Given the description of an element on the screen output the (x, y) to click on. 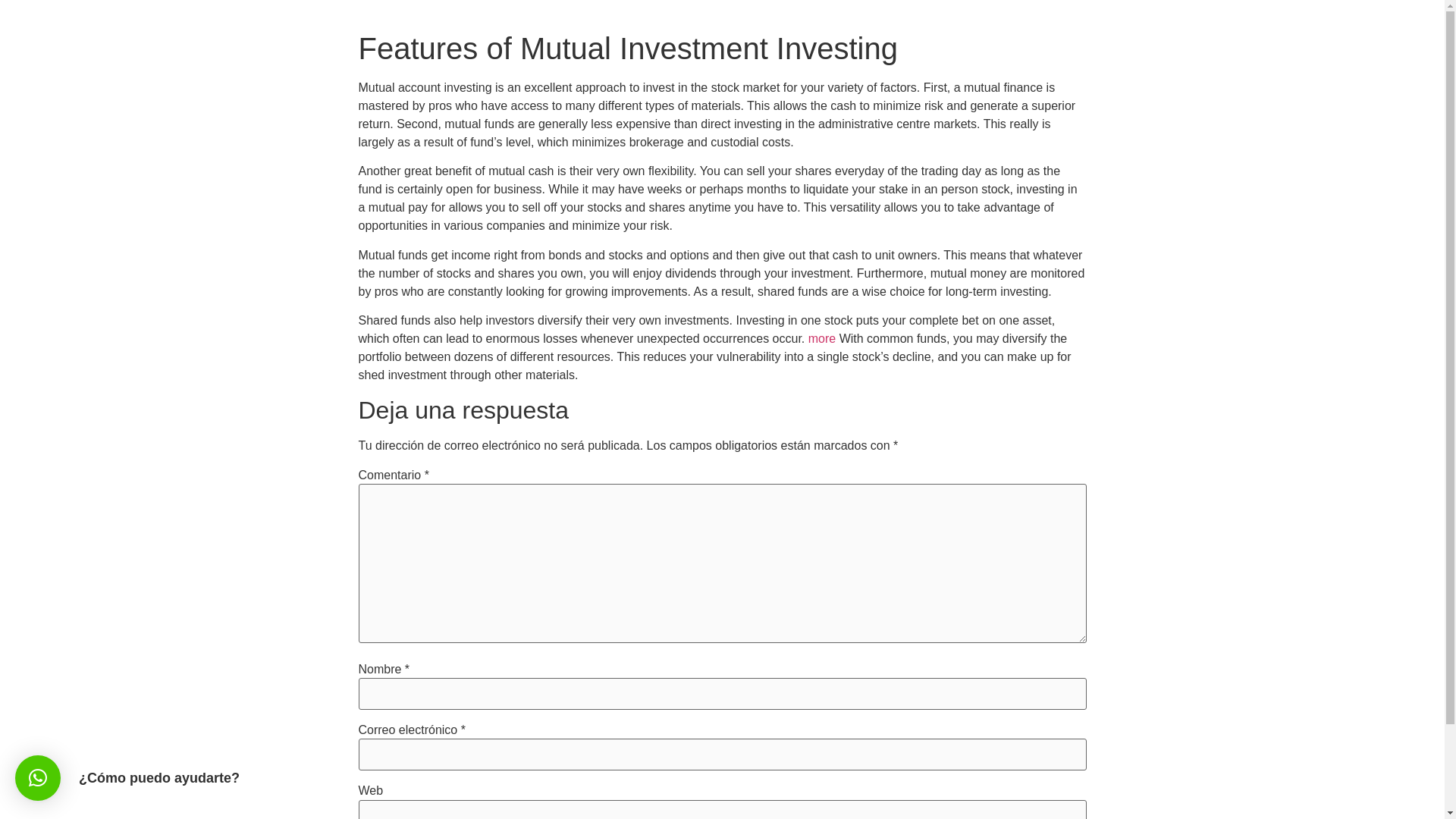
more (821, 338)
